Given the description of an element on the screen output the (x, y) to click on. 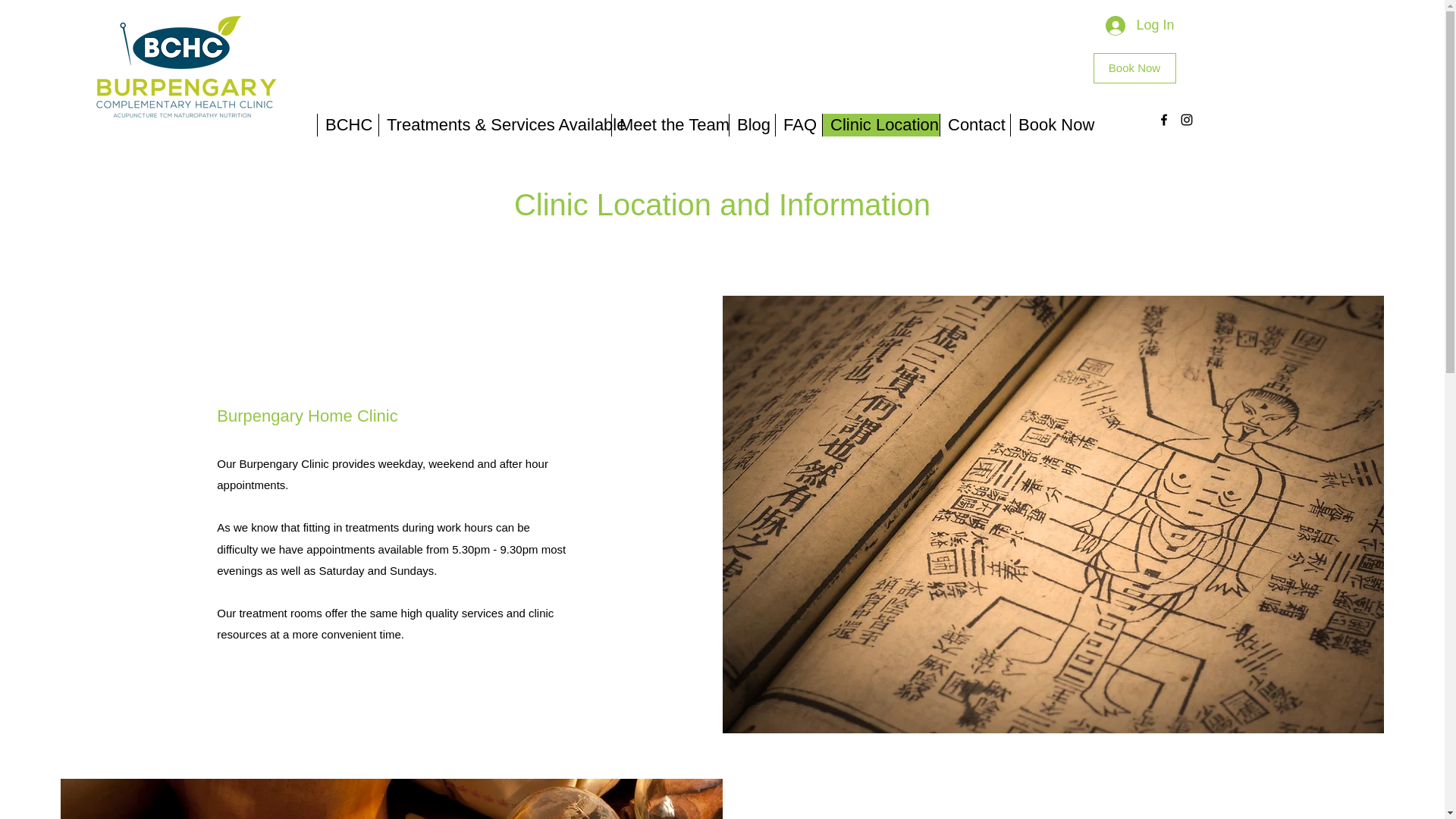
Contact (974, 124)
Book Now (1056, 124)
Blog (751, 124)
Clinic Location (880, 124)
Log In (1139, 25)
FAQ (798, 124)
Meet the Team (670, 124)
BCHC (347, 124)
Book Now (1134, 68)
